Given the description of an element on the screen output the (x, y) to click on. 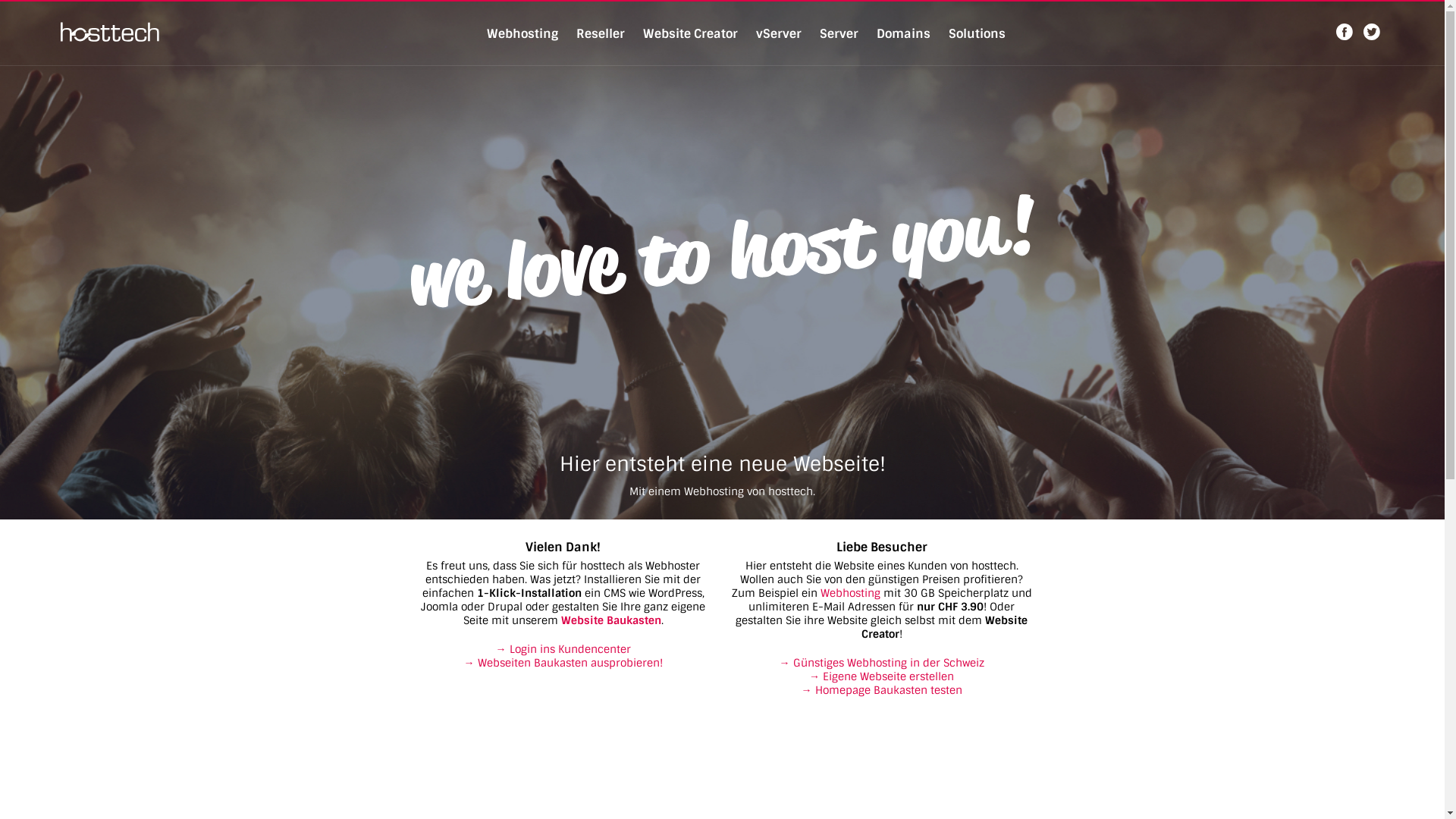
vServer Element type: text (777, 33)
Webhosting Element type: text (850, 592)
Solutions Element type: text (975, 33)
Website Creator Element type: text (690, 33)
Reseller Element type: text (600, 33)
Domains Element type: text (903, 33)
Webhosting Element type: text (522, 33)
Server Element type: text (838, 33)
Website Baukasten Element type: text (611, 620)
